Given the description of an element on the screen output the (x, y) to click on. 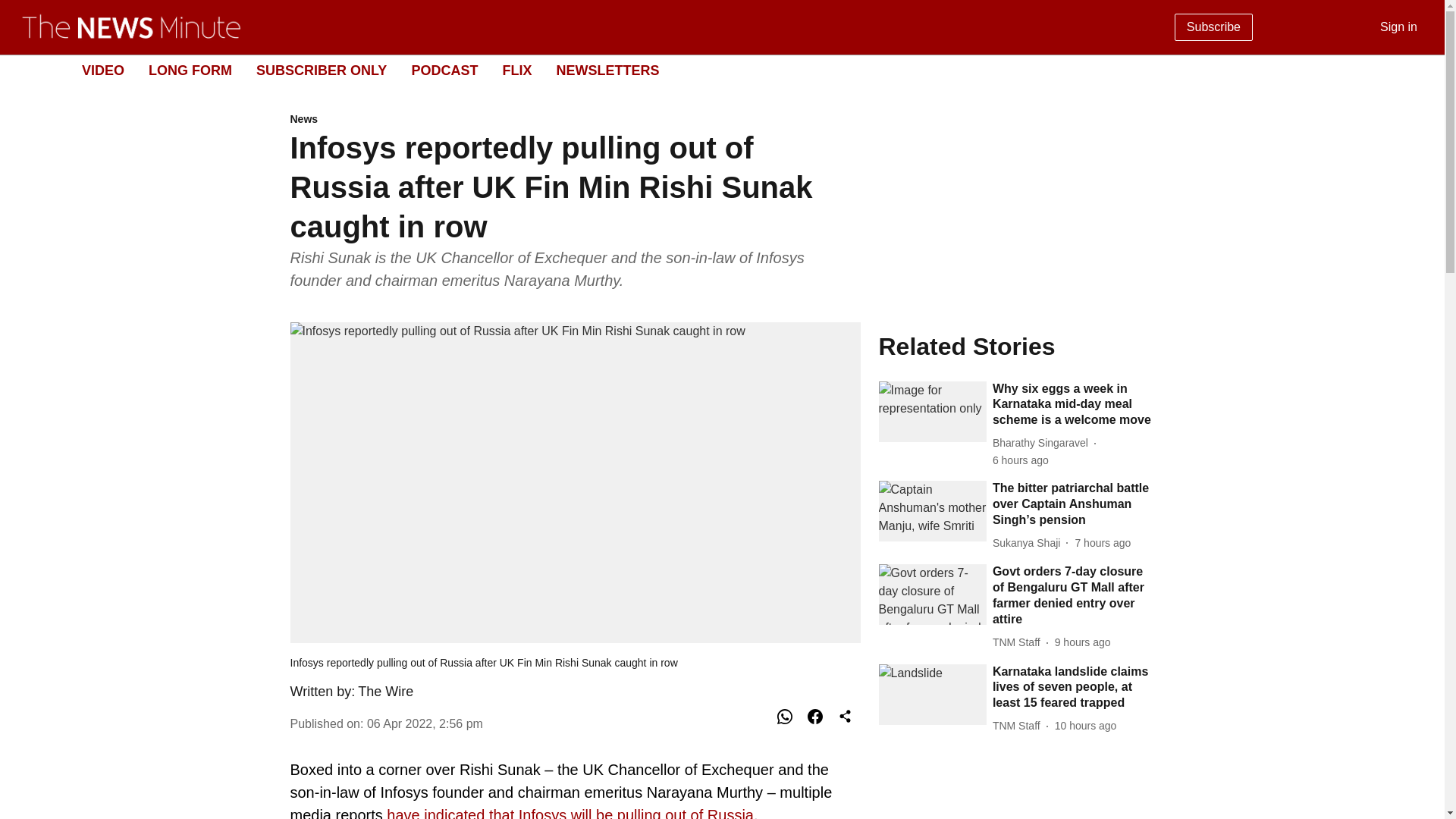
SUBSCRIBER ONLY (321, 70)
Related Stories (1015, 345)
have indicated that Infosys will be pulling out of Russia (568, 812)
2024-07-18 10:47 (1082, 642)
FLIX (516, 70)
2024-07-18 13:13 (1102, 543)
2024-07-18 13:37 (1020, 460)
TNM Staff (1019, 725)
The Wire (385, 691)
2024-07-18 10:26 (1085, 725)
TNM Staff (709, 70)
PODCAST (1019, 642)
NEWSLETTERS (443, 70)
